Given the description of an element on the screen output the (x, y) to click on. 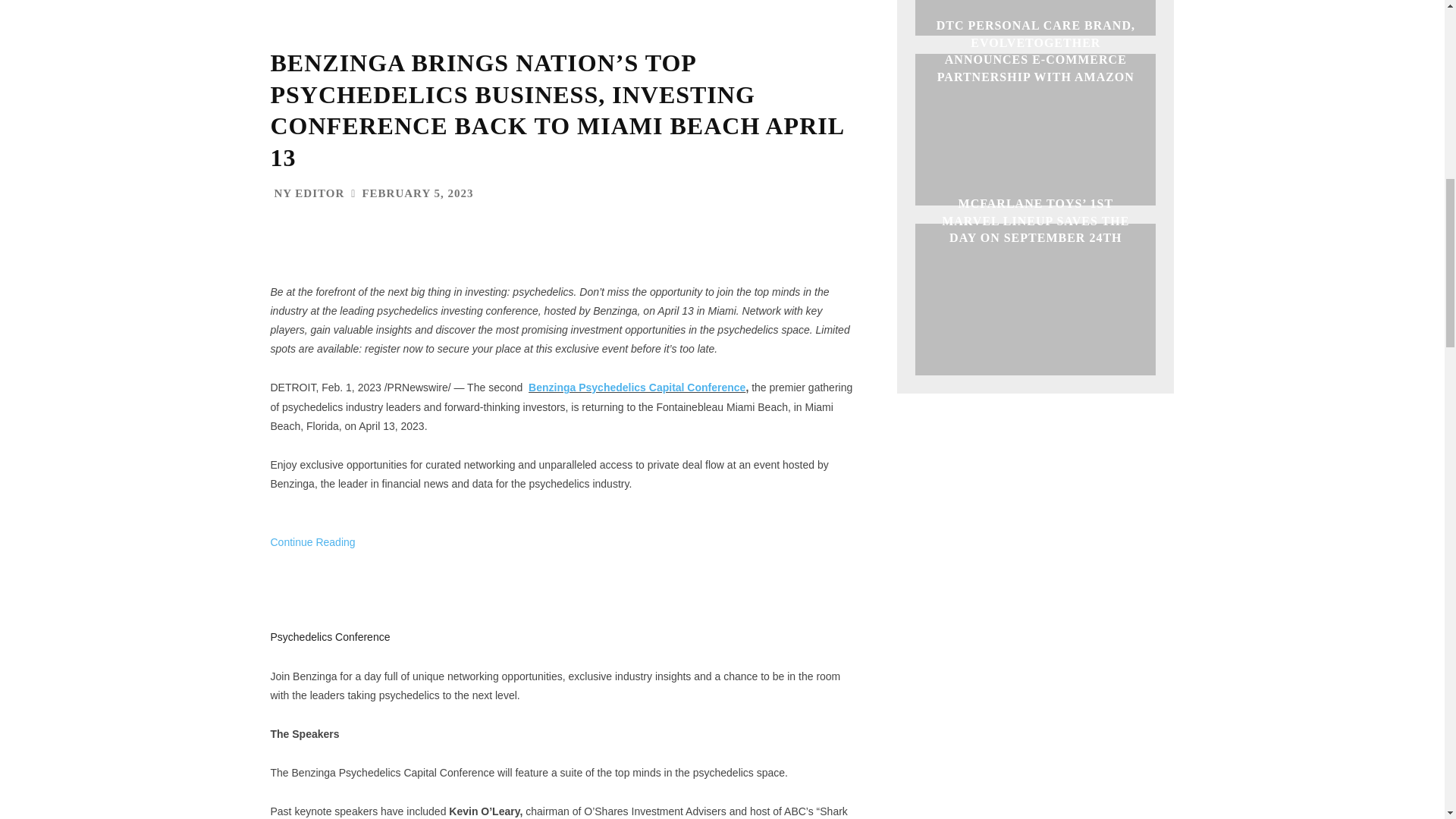
Continue Reading (312, 561)
Benzinga Psychedelics Capital Conference (636, 387)
NY EDITOR (310, 193)
Continue Reading (312, 561)
